Given the description of an element on the screen output the (x, y) to click on. 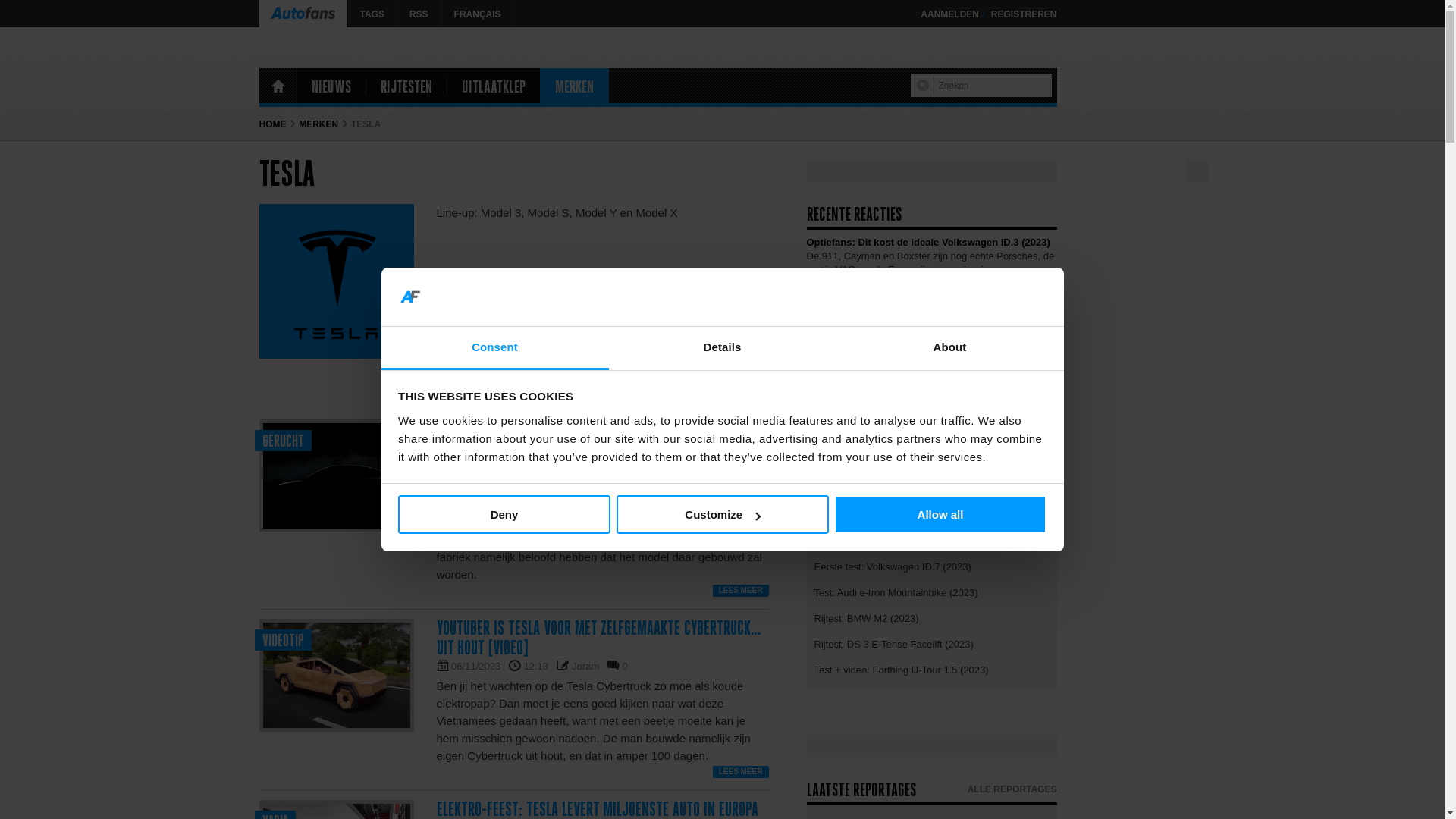
MEER Element type: text (1039, 341)
About Element type: text (949, 348)
Zoeken Element type: text (924, 85)
ALLE RIJTESTEN Element type: text (1018, 528)
Test + video: Forthing U-Tour 1.5 (2023) Element type: text (931, 668)
MEER Element type: text (1039, 285)
Optiefans: Dit kost de ideale Volkswagen ID.3 (2023) Element type: text (928, 439)
REGISTREREN Element type: text (1024, 14)
Rijtest: BMW M2 (2023) Element type: text (931, 617)
Consent Element type: text (494, 348)
AANMELDEN Element type: text (949, 14)
MEER Element type: text (1039, 412)
LEES MEER Element type: text (740, 771)
Deny Element type: text (504, 514)
0
reacties Element type: text (624, 467)
0
reacties Element type: text (624, 665)
MERKEN Element type: text (573, 85)
HOME Element type: text (277, 85)
ALLE REPORTAGES Element type: text (1012, 788)
Test: Audi e-tron Mountainbike (2023) Element type: text (931, 591)
MEER Element type: text (1039, 482)
Volkswagen Passat Variant 2023 Element type: text (881, 312)
Details Element type: text (721, 348)
MERKEN Element type: text (318, 124)
Eerste test: Volkswagen ID.7 (2023) Element type: text (931, 565)
LEES MEER Element type: text (740, 590)
Rijtest: DS 3 E-Tense Facelift (2023) Element type: text (931, 642)
Customize Element type: text (721, 514)
UITLAATKLEP Element type: text (493, 85)
Allow all Element type: text (940, 514)
NIEUWS Element type: text (331, 85)
TAGS Element type: text (371, 13)
RIJTESTEN Element type: text (405, 85)
Optiefans: Dit kost de ideale Volkswagen ID.3 (2023) Element type: text (928, 369)
HOME Element type: text (272, 124)
RSS Element type: text (418, 13)
Optiefans: Dit kost de ideale Volkswagen ID.3 (2023) Element type: text (928, 241)
